Given the description of an element on the screen output the (x, y) to click on. 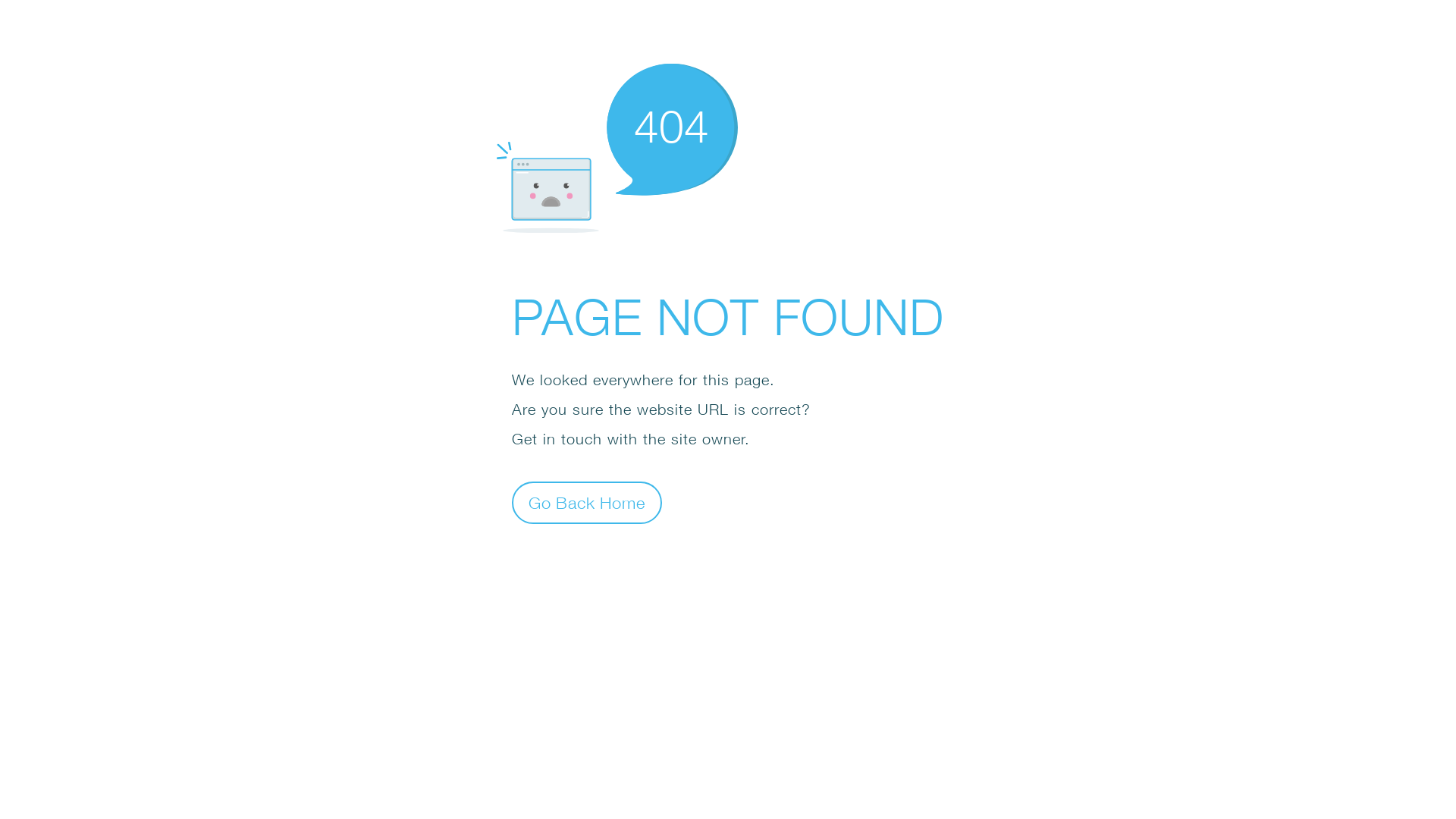
Go Back Home Element type: text (586, 502)
